Given the description of an element on the screen output the (x, y) to click on. 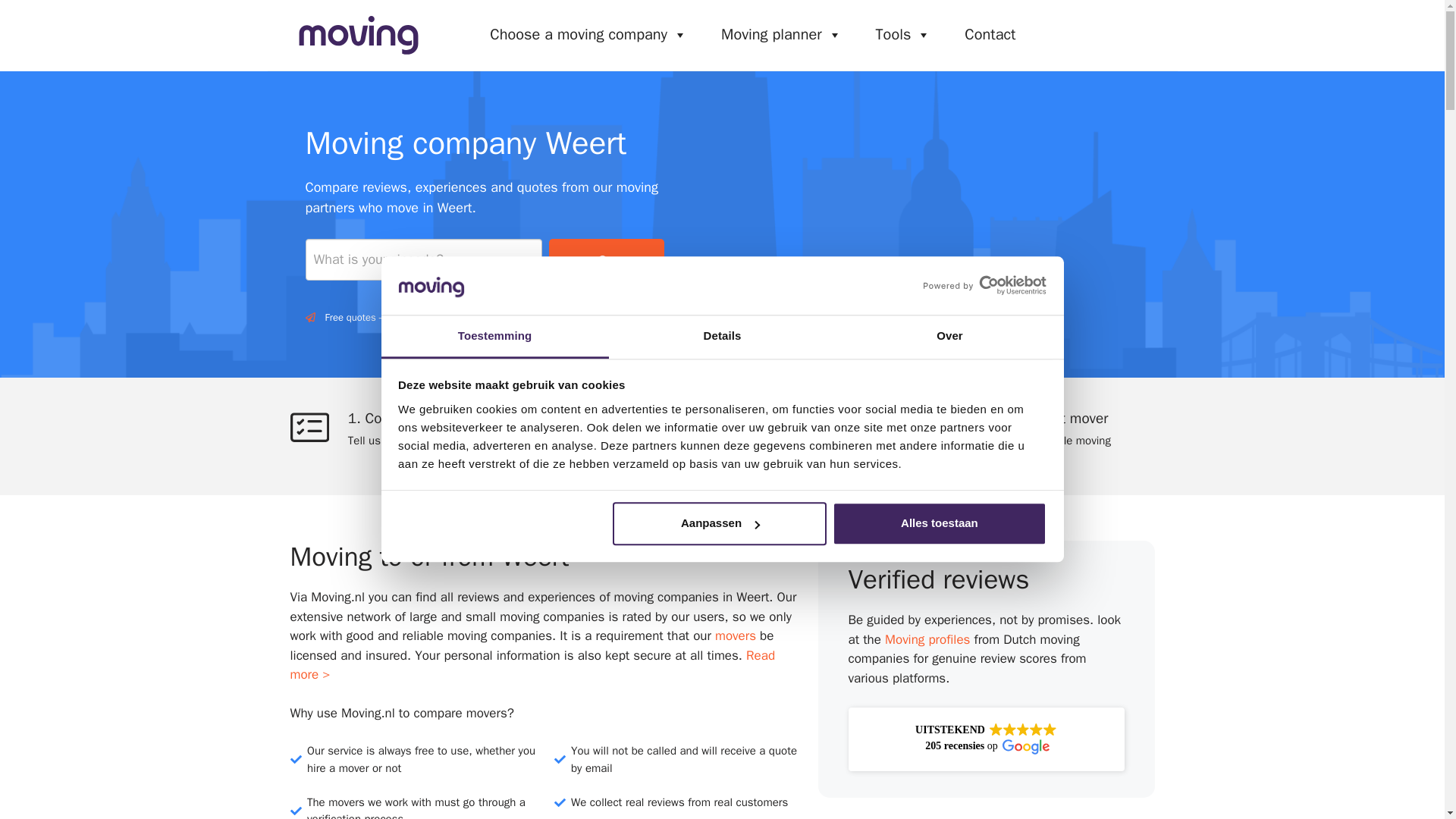
Aanpassen (719, 524)
Alles toestaan (939, 524)
Choose a moving company (587, 34)
Toestemming (494, 336)
Details (721, 336)
Over (948, 336)
